Given the description of an element on the screen output the (x, y) to click on. 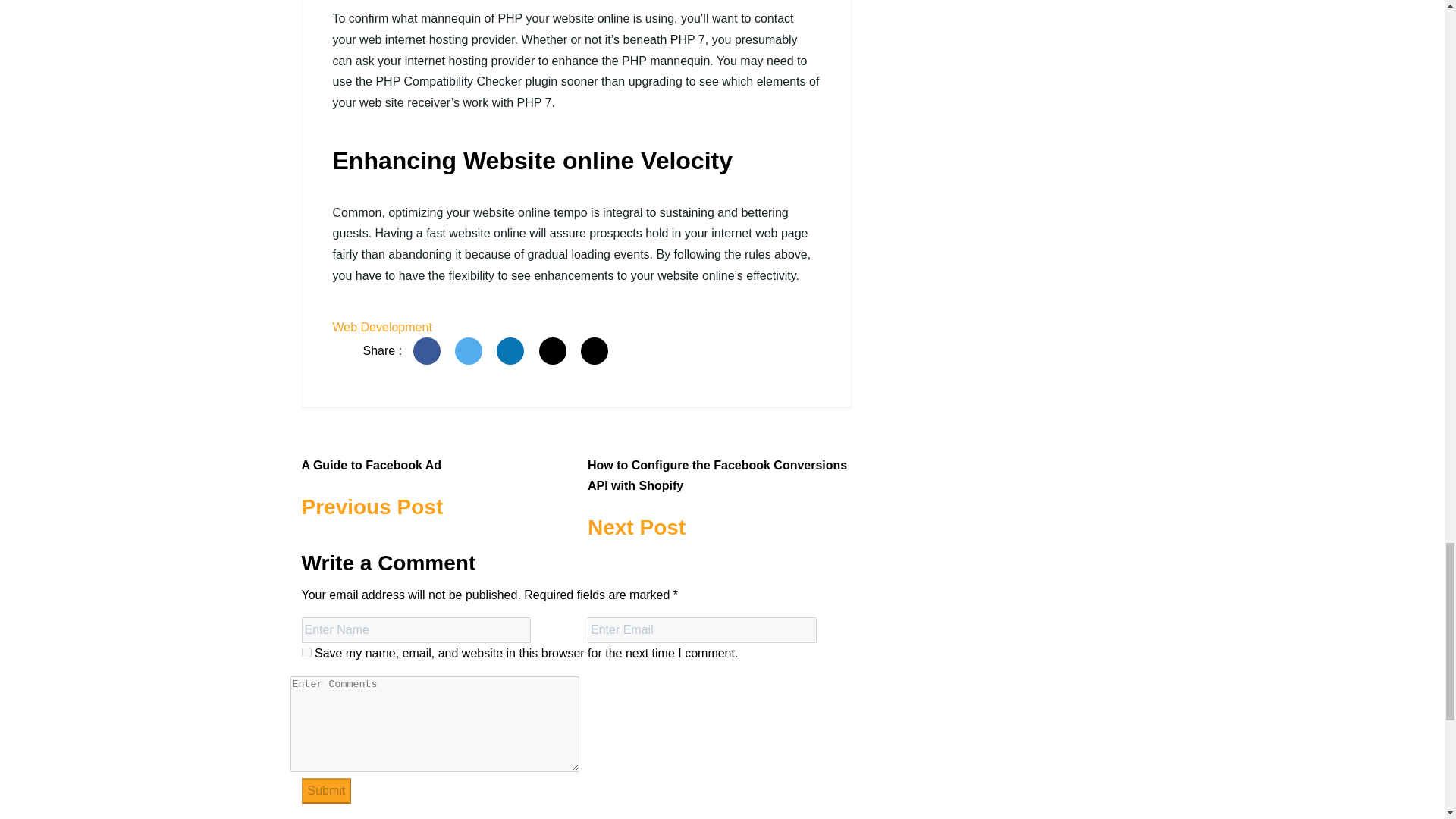
Submit (433, 479)
Why is Site Speed Important? (326, 790)
yes (428, 350)
Web Development (306, 652)
Submit (380, 327)
